Given the description of an element on the screen output the (x, y) to click on. 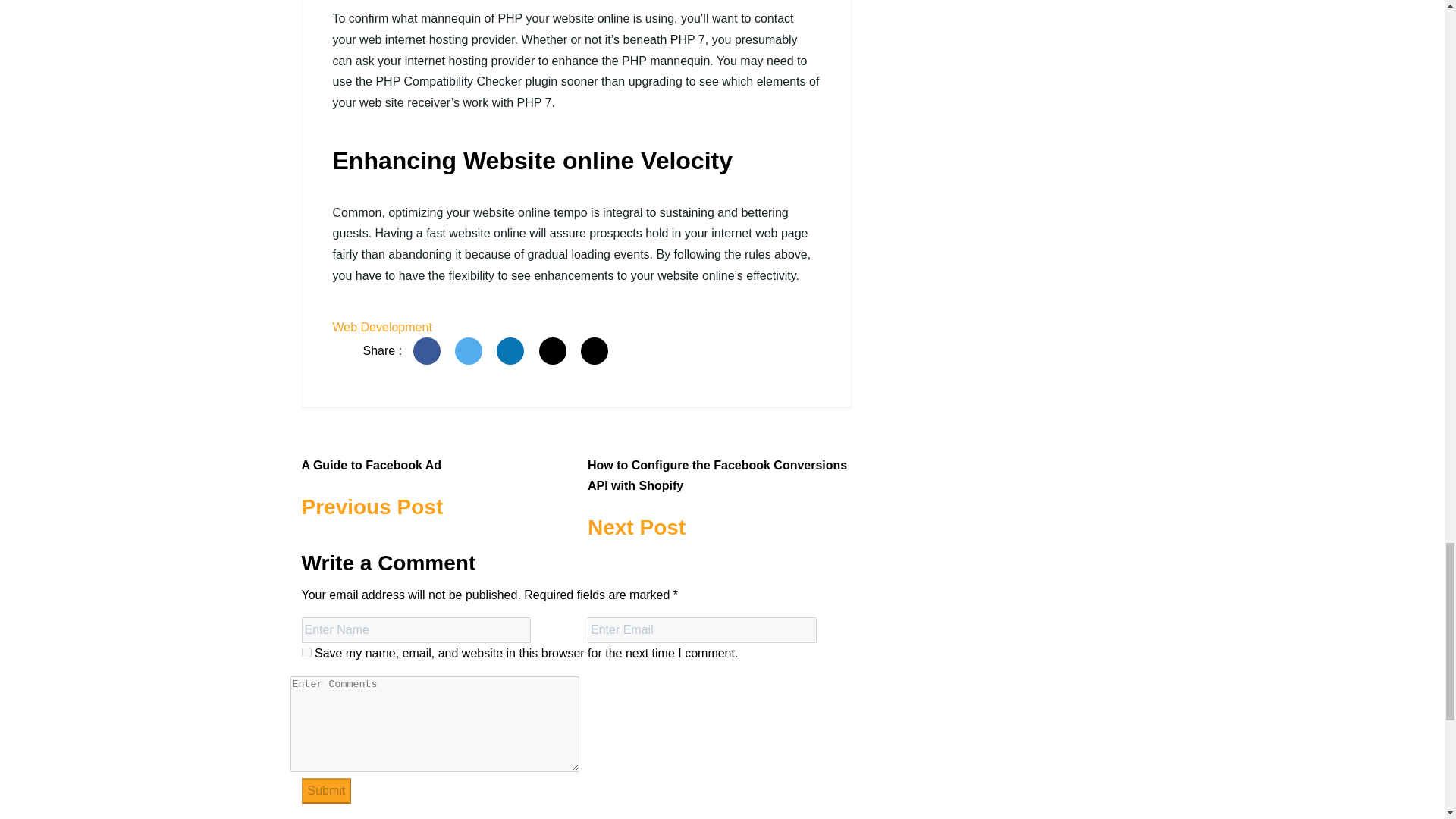
Submit (433, 479)
Why is Site Speed Important? (326, 790)
yes (428, 350)
Web Development (306, 652)
Submit (380, 327)
